Given the description of an element on the screen output the (x, y) to click on. 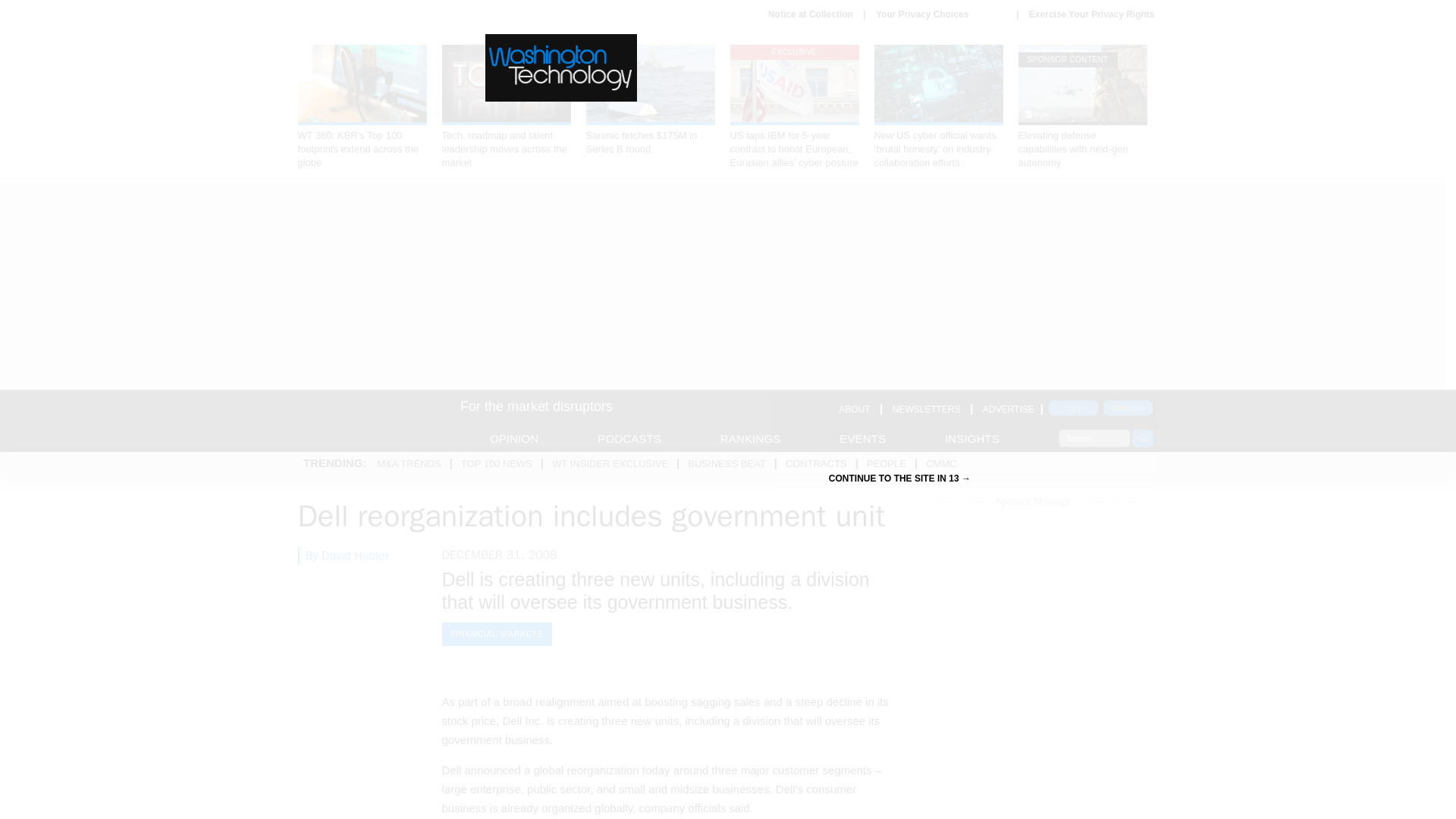
Tech, roadmap and talent leadership moves across the market (505, 107)
INSIGHTS (971, 438)
Exercise Your Privacy Rights (1091, 14)
RANKINGS (750, 438)
Notice at Collection (810, 14)
NEWSLETTERS (926, 409)
OPINION (513, 438)
EVENTS (862, 438)
ADVERTISE (1007, 409)
WT 360: KBR's Top 100 footprints extend across the globe (361, 107)
PODCASTS (628, 438)
Your Privacy Choices (941, 14)
